Given the description of an element on the screen output the (x, y) to click on. 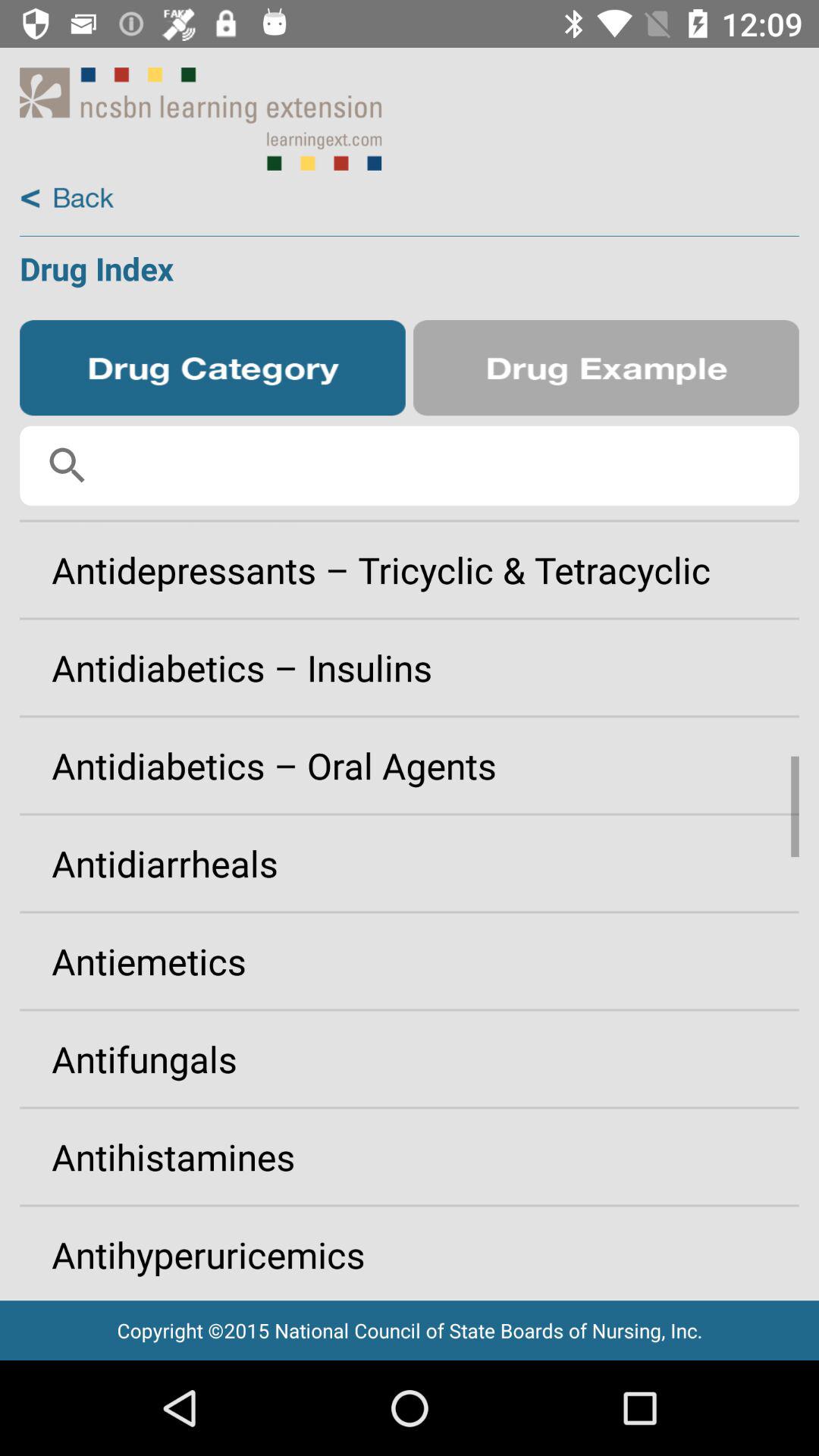
launch app above the copyright 2015 national app (409, 1248)
